Given the description of an element on the screen output the (x, y) to click on. 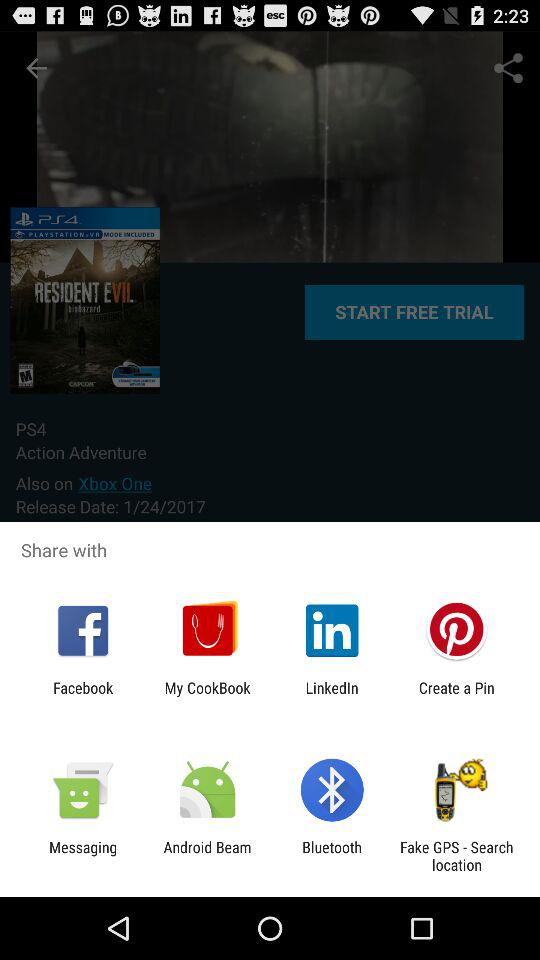
turn off app next to the linkedin icon (207, 696)
